Given the description of an element on the screen output the (x, y) to click on. 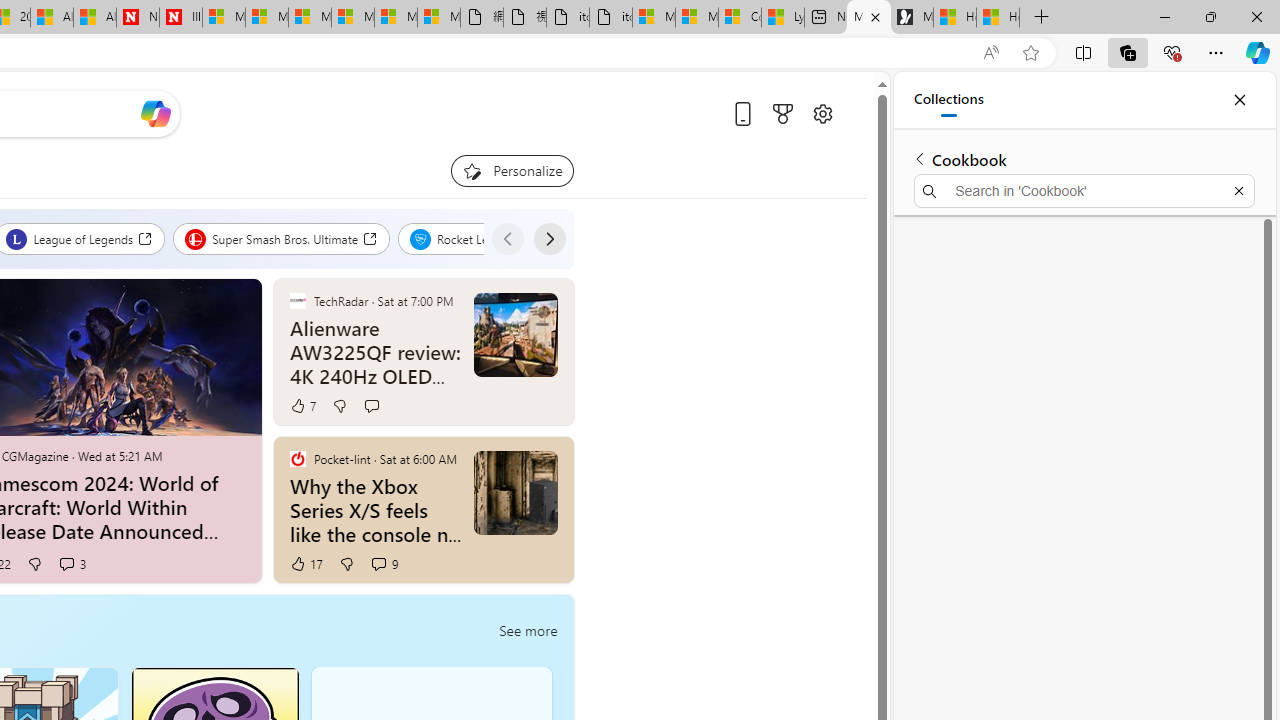
Illness news & latest pictures from Newsweek.com (181, 17)
Previous (507, 238)
Microsoft Start Gaming (911, 17)
View comments 9 Comment (377, 563)
Exit search (1238, 190)
7 Like (302, 405)
Microsoft rewards (782, 113)
Open Copilot (155, 113)
